Given the description of an element on the screen output the (x, y) to click on. 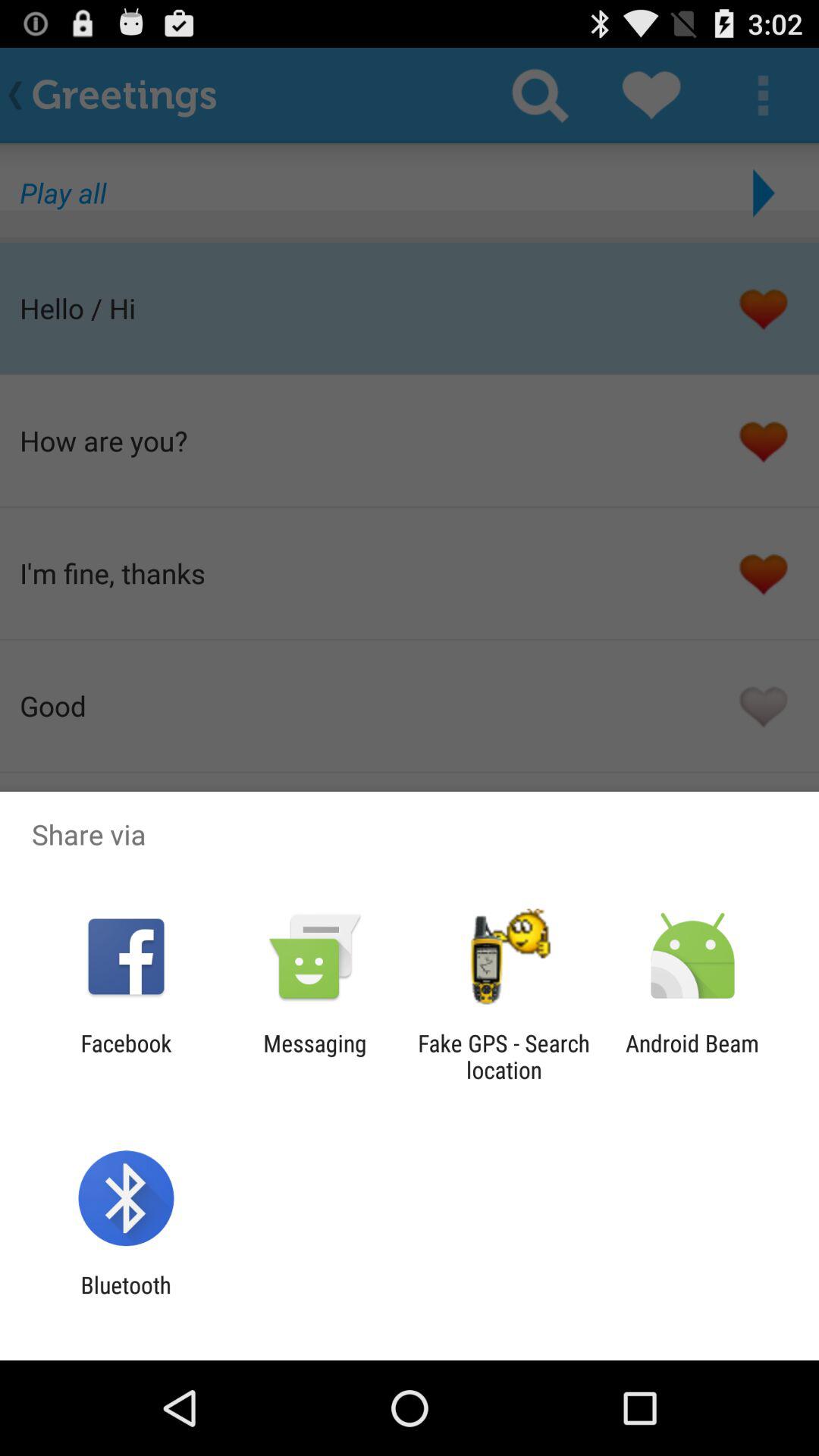
click icon next to the fake gps search item (692, 1056)
